Given the description of an element on the screen output the (x, y) to click on. 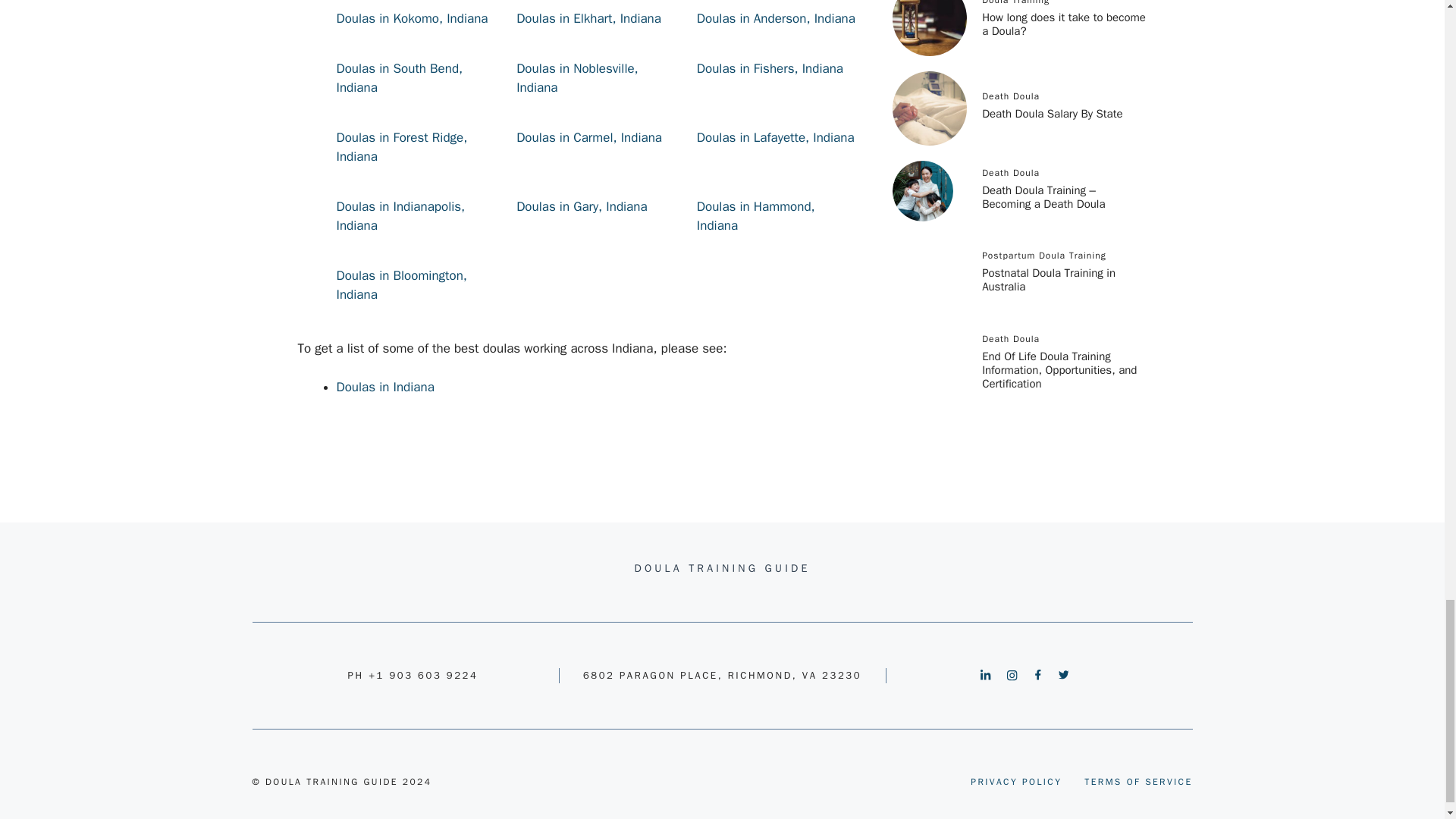
Doulas in Kokomo, Indiana  (414, 18)
